Given the description of an element on the screen output the (x, y) to click on. 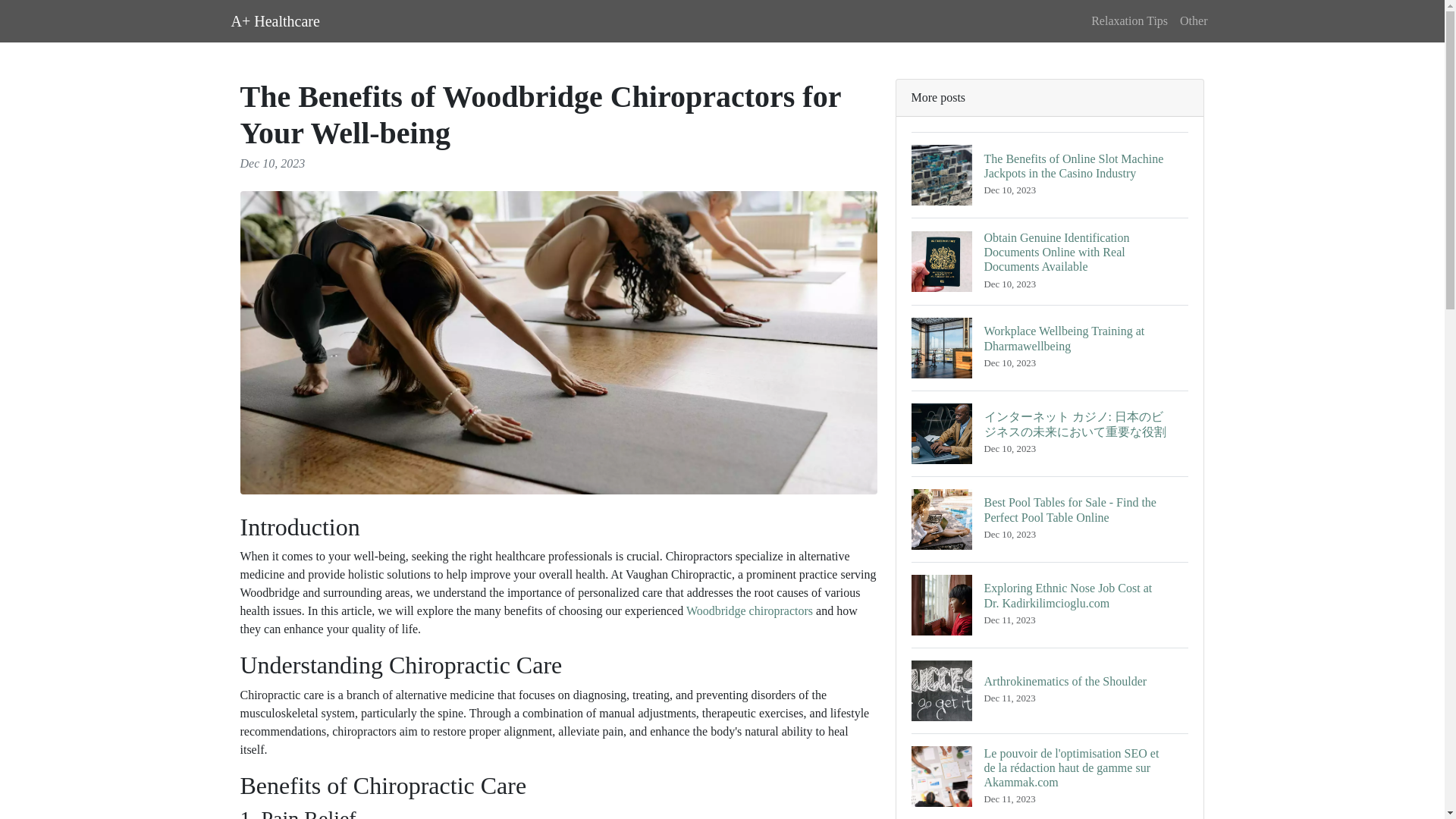
Relaxation Tips (1128, 20)
Other (1192, 20)
Woodbridge chiropractors (1050, 690)
